Given the description of an element on the screen output the (x, y) to click on. 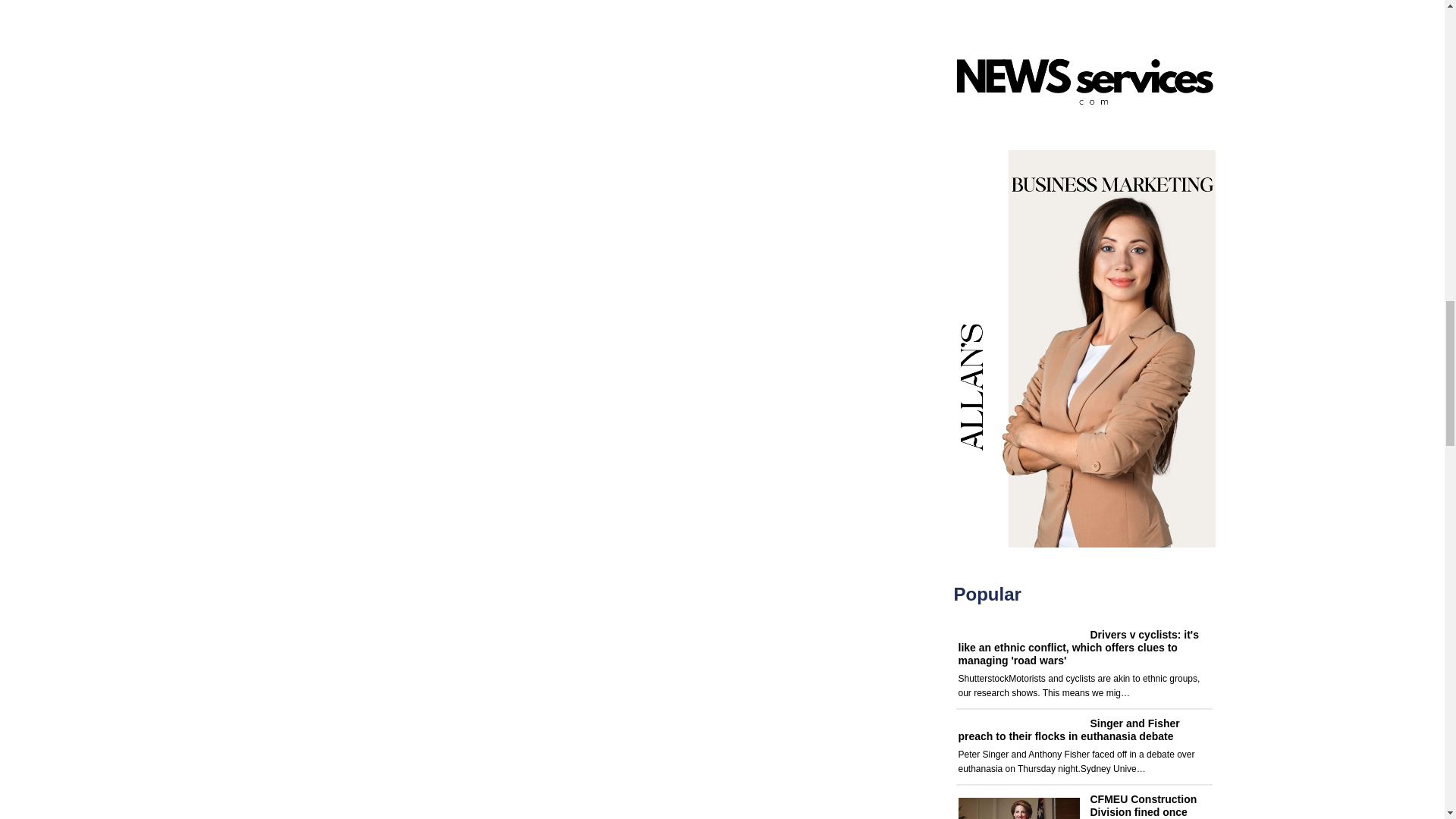
CFMEU Construction Division fined once again (1143, 806)
